Given the description of an element on the screen output the (x, y) to click on. 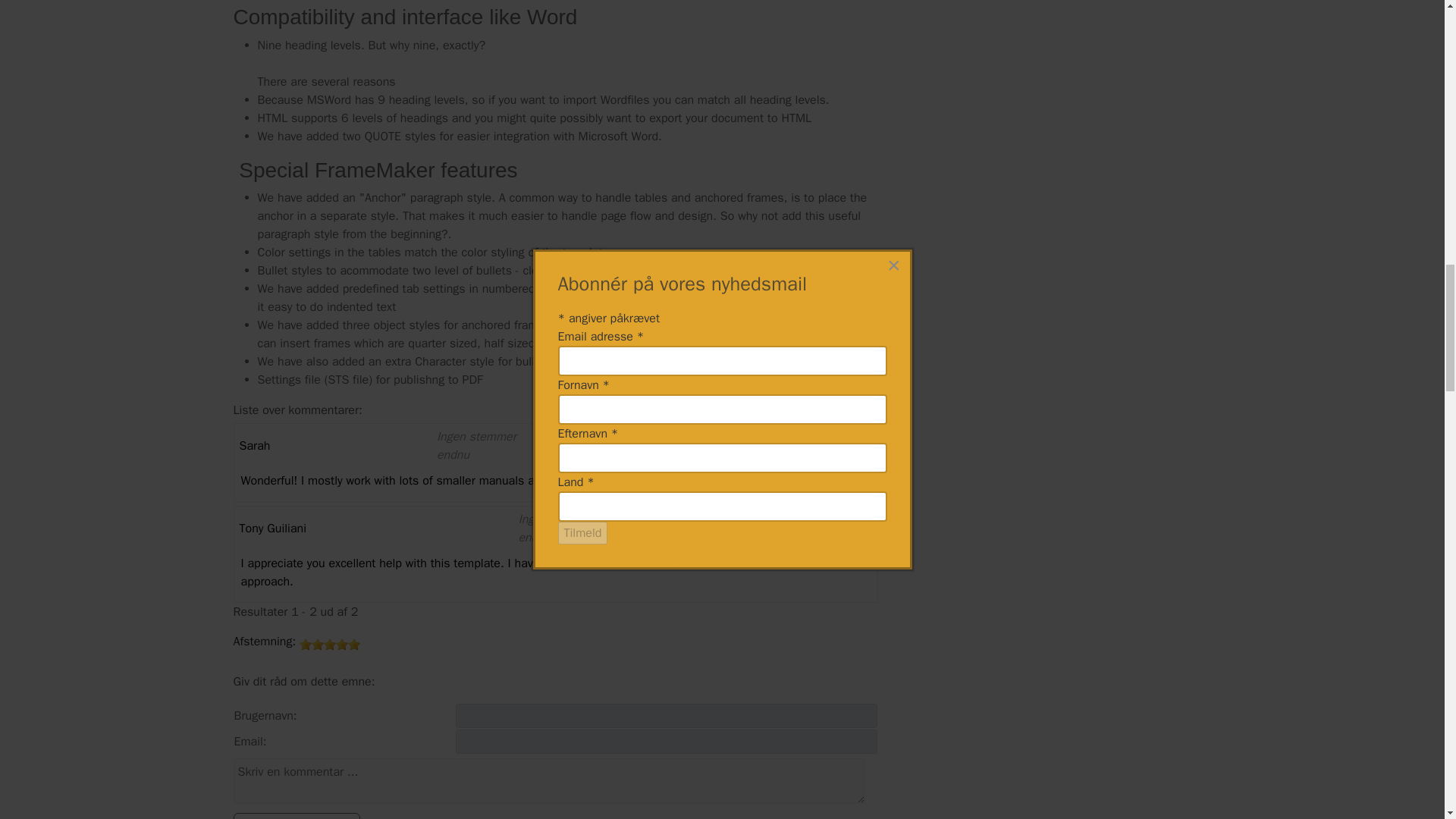
Send en kommentar (296, 816)
2 (317, 644)
1 (305, 644)
